Given the description of an element on the screen output the (x, y) to click on. 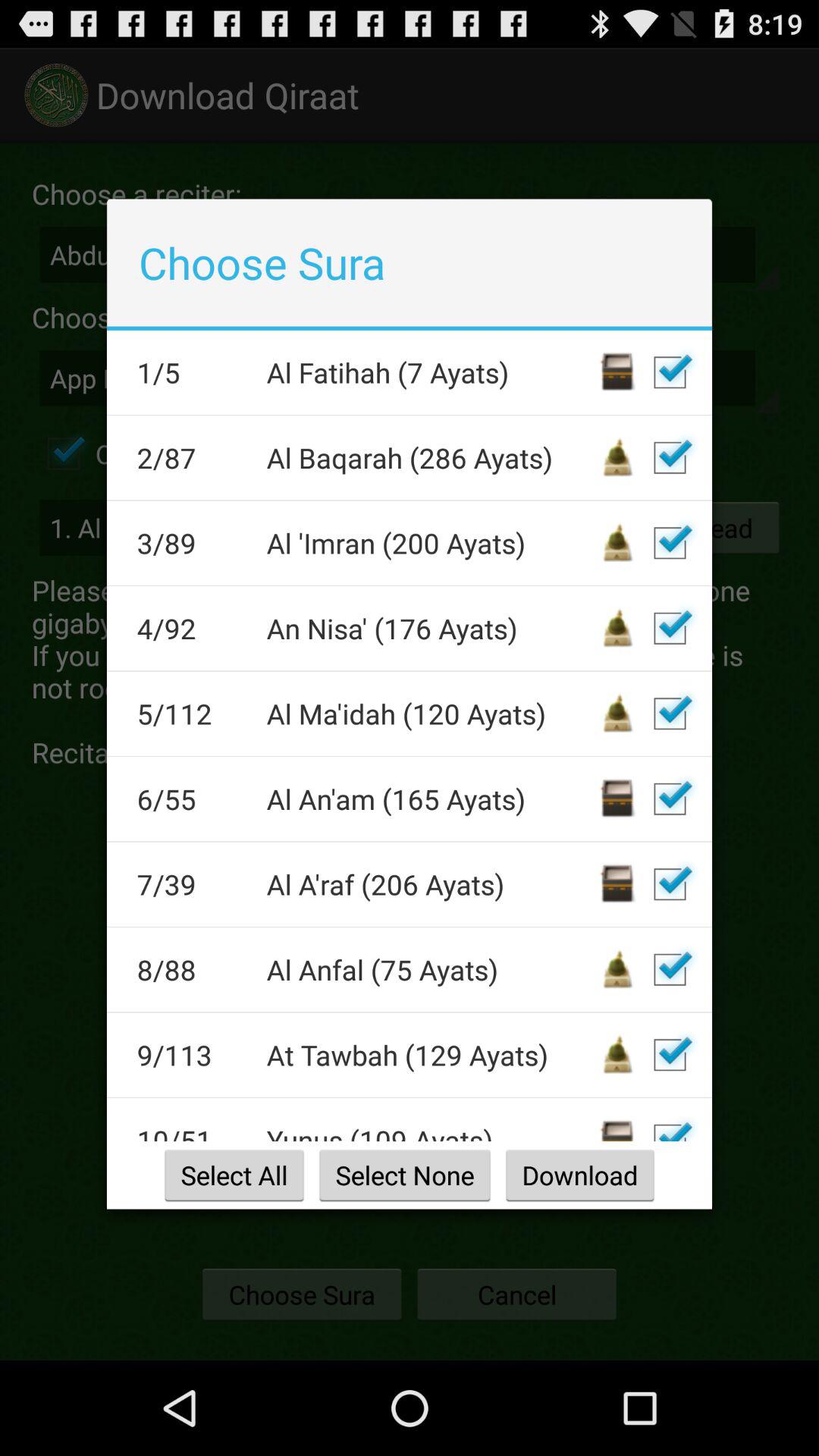
deselect (669, 713)
